Given the description of an element on the screen output the (x, y) to click on. 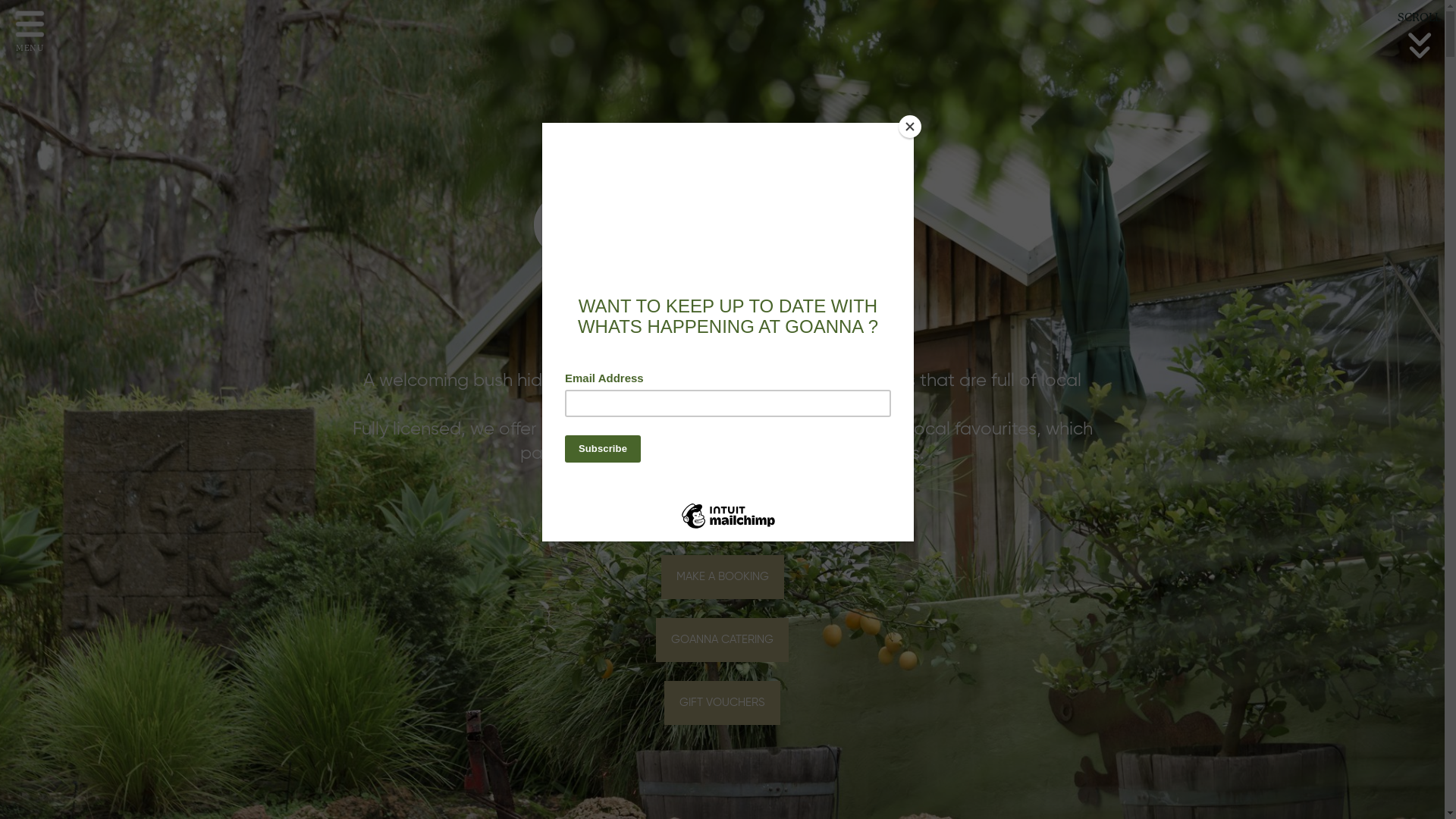
GIFT VOUCHERS Element type: text (722, 702)
MAKE A BOOKING Element type: text (722, 577)
GOANNA CATERING Element type: text (721, 640)
